Given the description of an element on the screen output the (x, y) to click on. 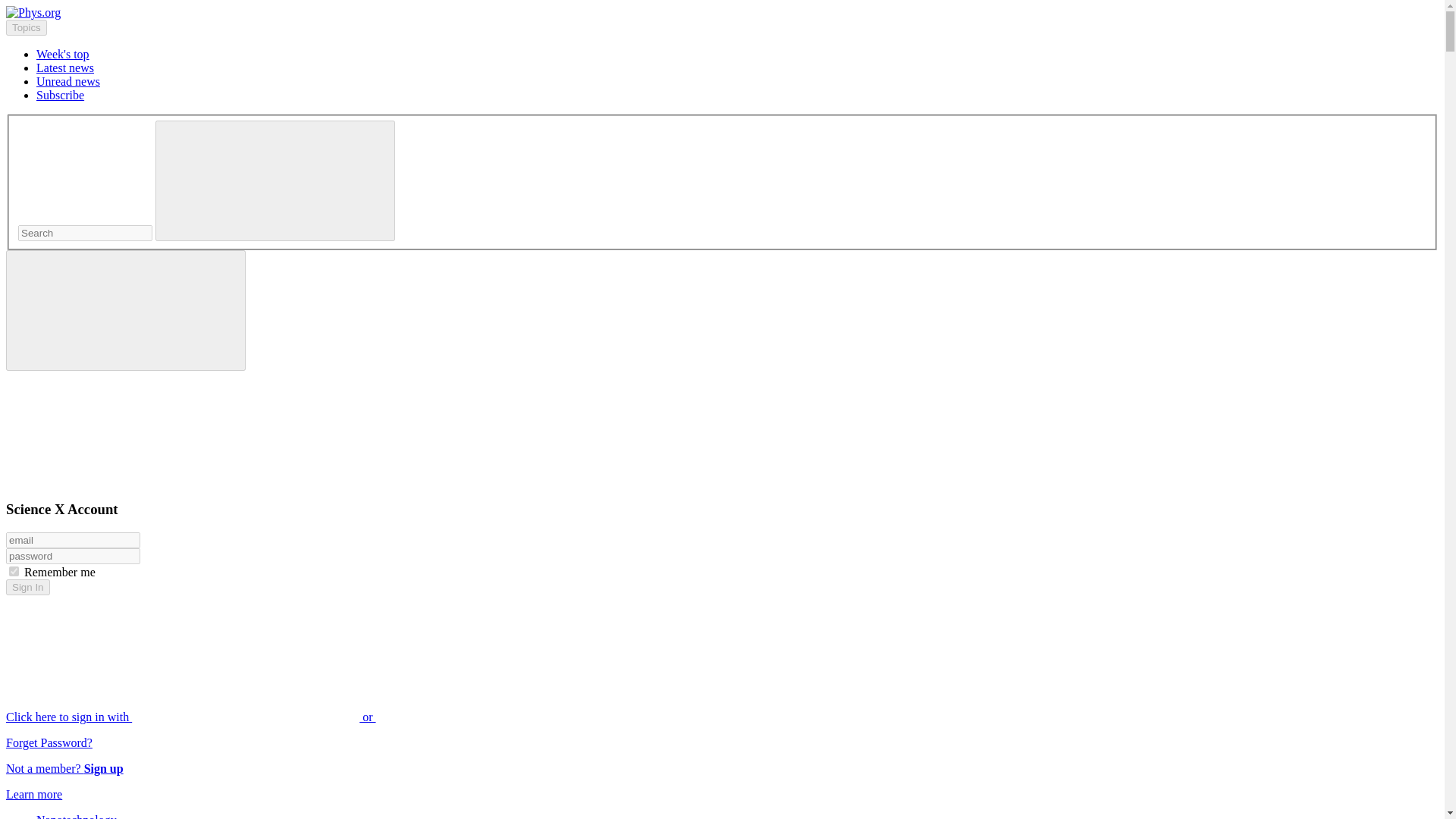
Subscribe (60, 94)
Topics (25, 27)
on (13, 571)
Click here to sign in with or (304, 716)
Sign In (27, 587)
Not a member? Sign up (64, 768)
Learn more (33, 793)
Forget Password? (49, 742)
Nanotechnology (76, 816)
Unread news (68, 81)
Week's top (62, 53)
Latest news (65, 67)
